Given the description of an element on the screen output the (x, y) to click on. 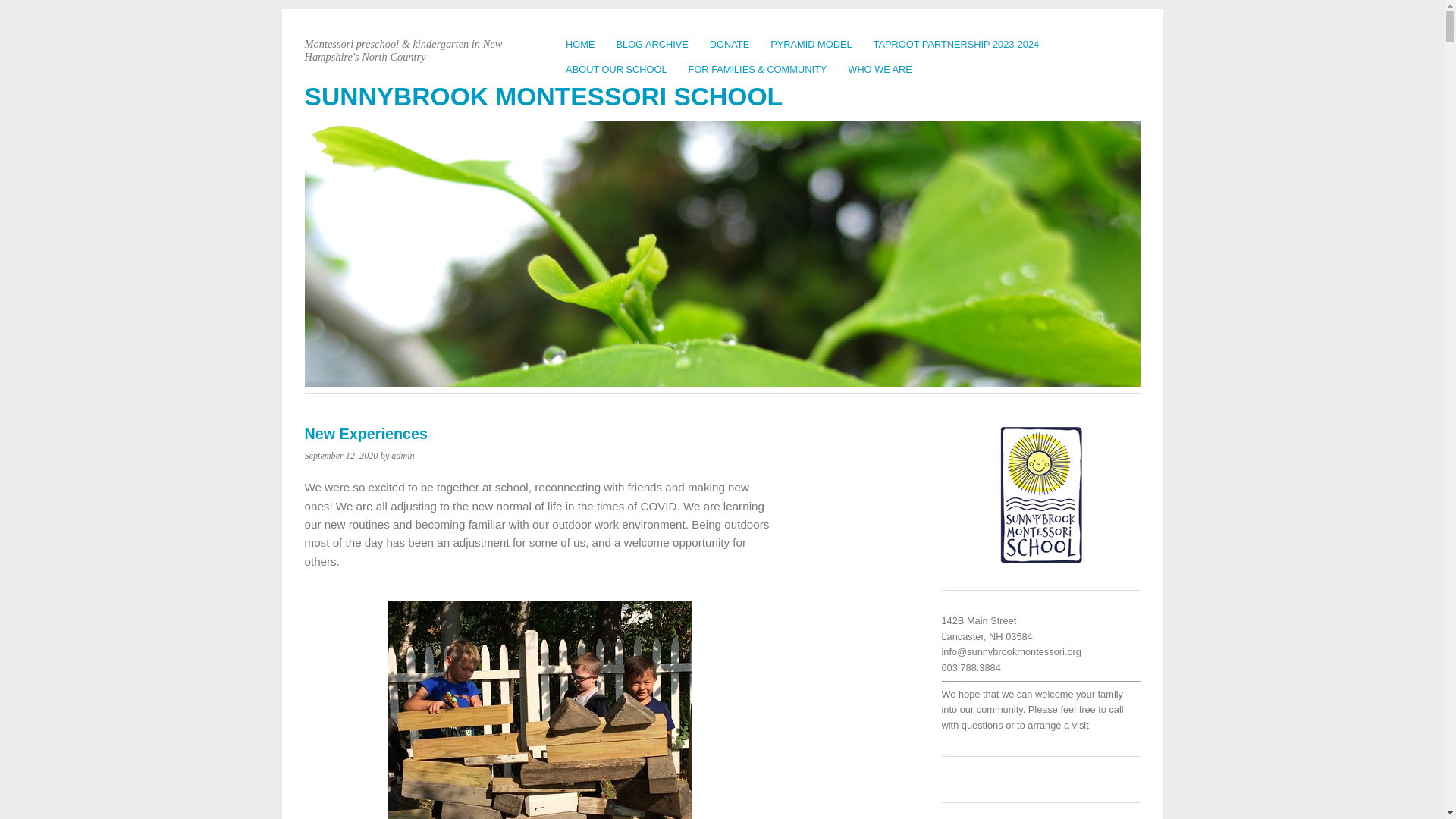
BLOG ARCHIVE (651, 43)
Sunnybrook Montessori School (543, 96)
PYRAMID MODEL (810, 43)
WHO WE ARE (880, 68)
TAPROOT PARTNERSHIP 2023-2024 (956, 43)
building (540, 710)
DONATE (729, 43)
ABOUT OUR SCHOOL (615, 68)
SUNNYBROOK MONTESSORI SCHOOL (543, 96)
HOME (579, 43)
